Given the description of an element on the screen output the (x, y) to click on. 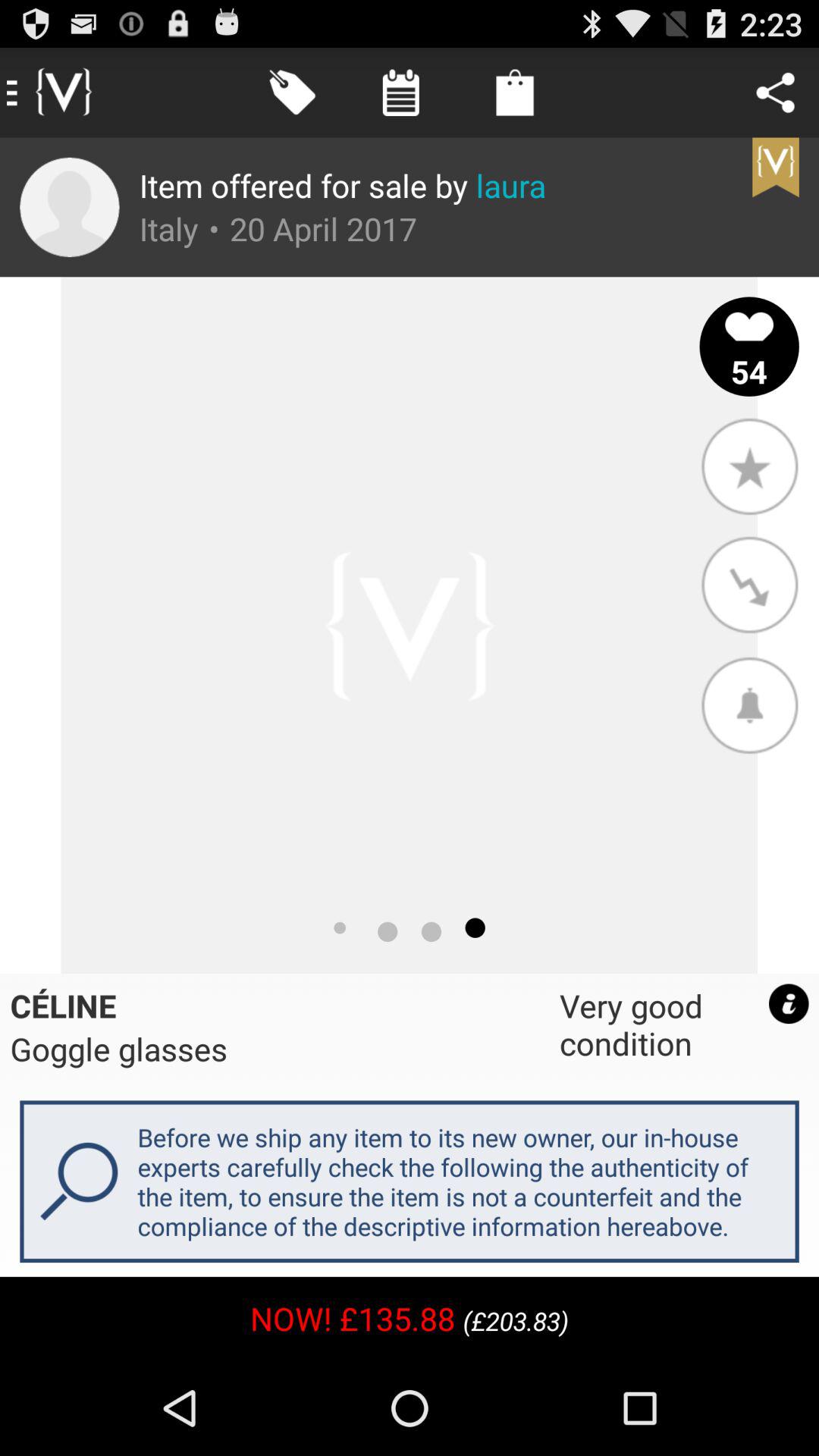
select the item offered for icon (342, 185)
